Given the description of an element on the screen output the (x, y) to click on. 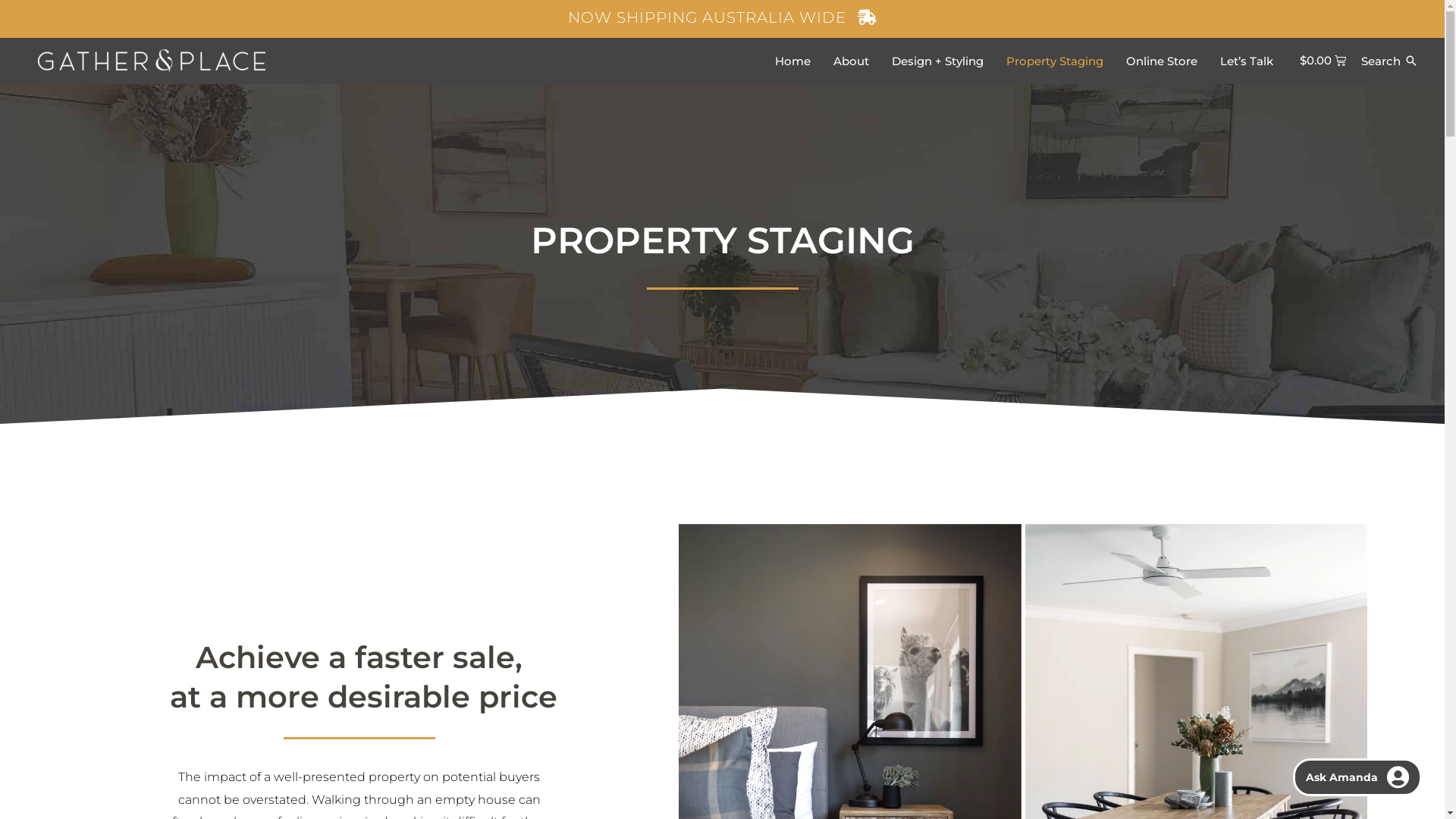
About Element type: text (851, 60)
Design + Styling Element type: text (936, 60)
NOW SHIPPING AUSTRALIA WIDE Element type: text (721, 17)
Online Store Element type: text (1161, 60)
Property Staging Element type: text (1054, 60)
Ask Amanda Element type: text (1356, 777)
$0.00
CART Element type: text (1322, 59)
Home Element type: text (791, 60)
